Given the description of an element on the screen output the (x, y) to click on. 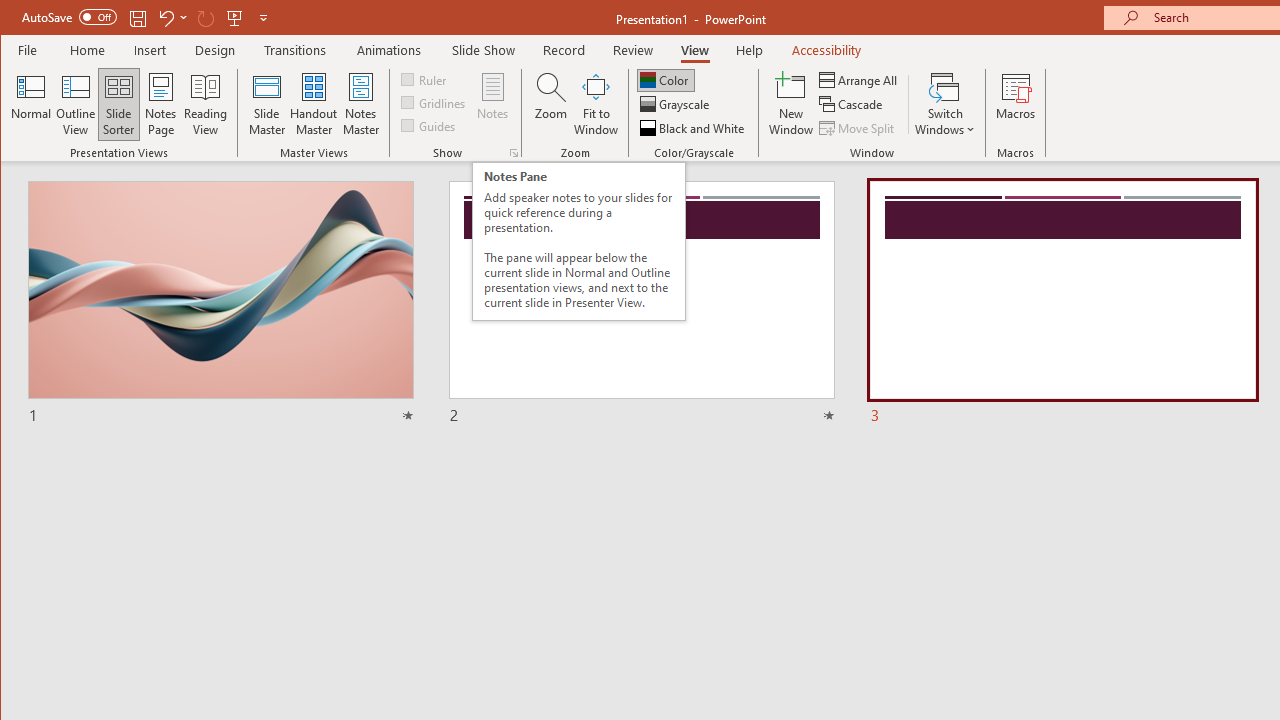
Move Split (858, 127)
Slide Master (266, 104)
New Window (791, 104)
Fit to Window (596, 104)
Cascade (852, 103)
Arrange All (859, 80)
Gridlines (435, 101)
Black and White (694, 127)
